Given the description of an element on the screen output the (x, y) to click on. 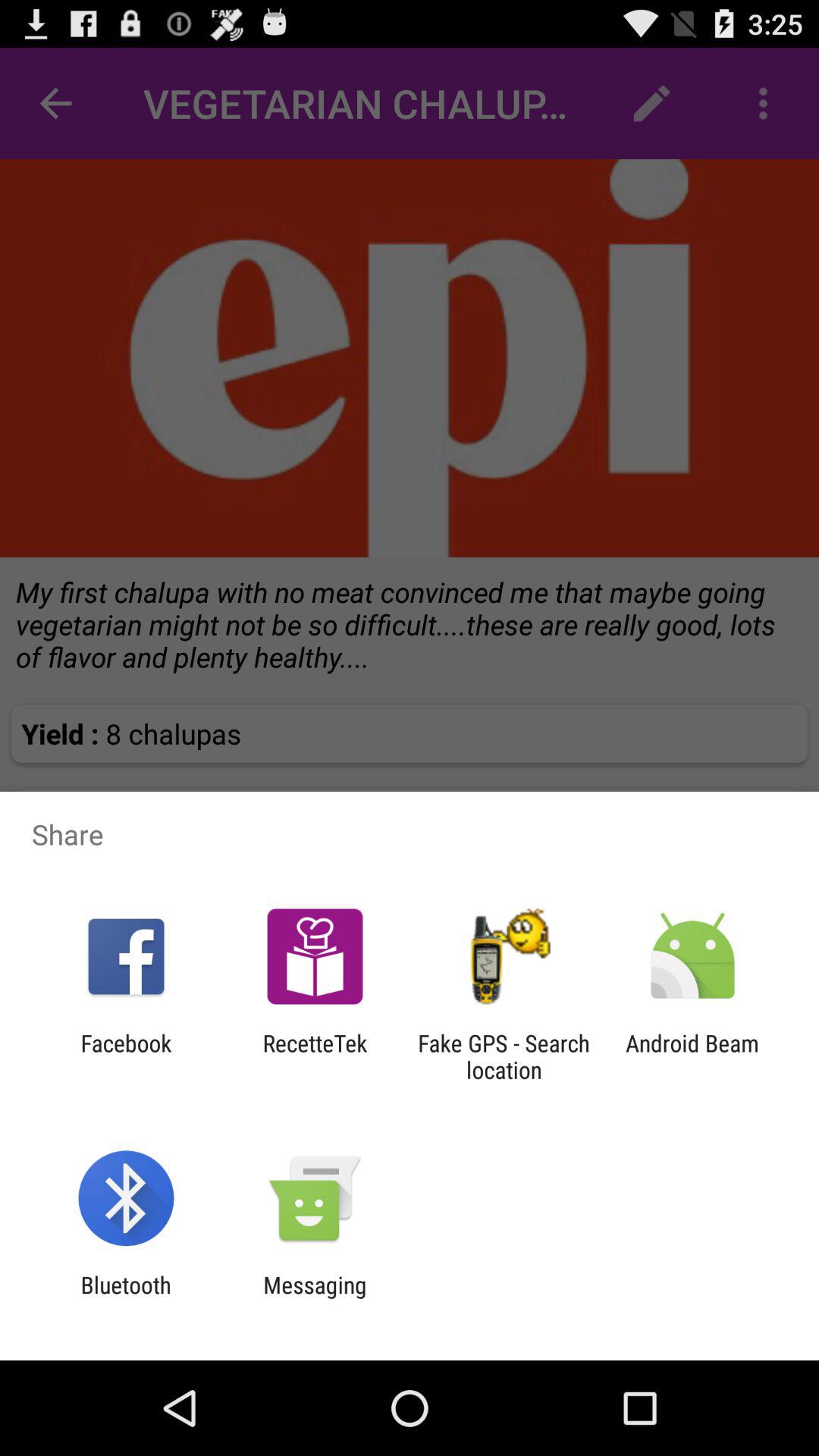
turn off the android beam item (692, 1056)
